Given the description of an element on the screen output the (x, y) to click on. 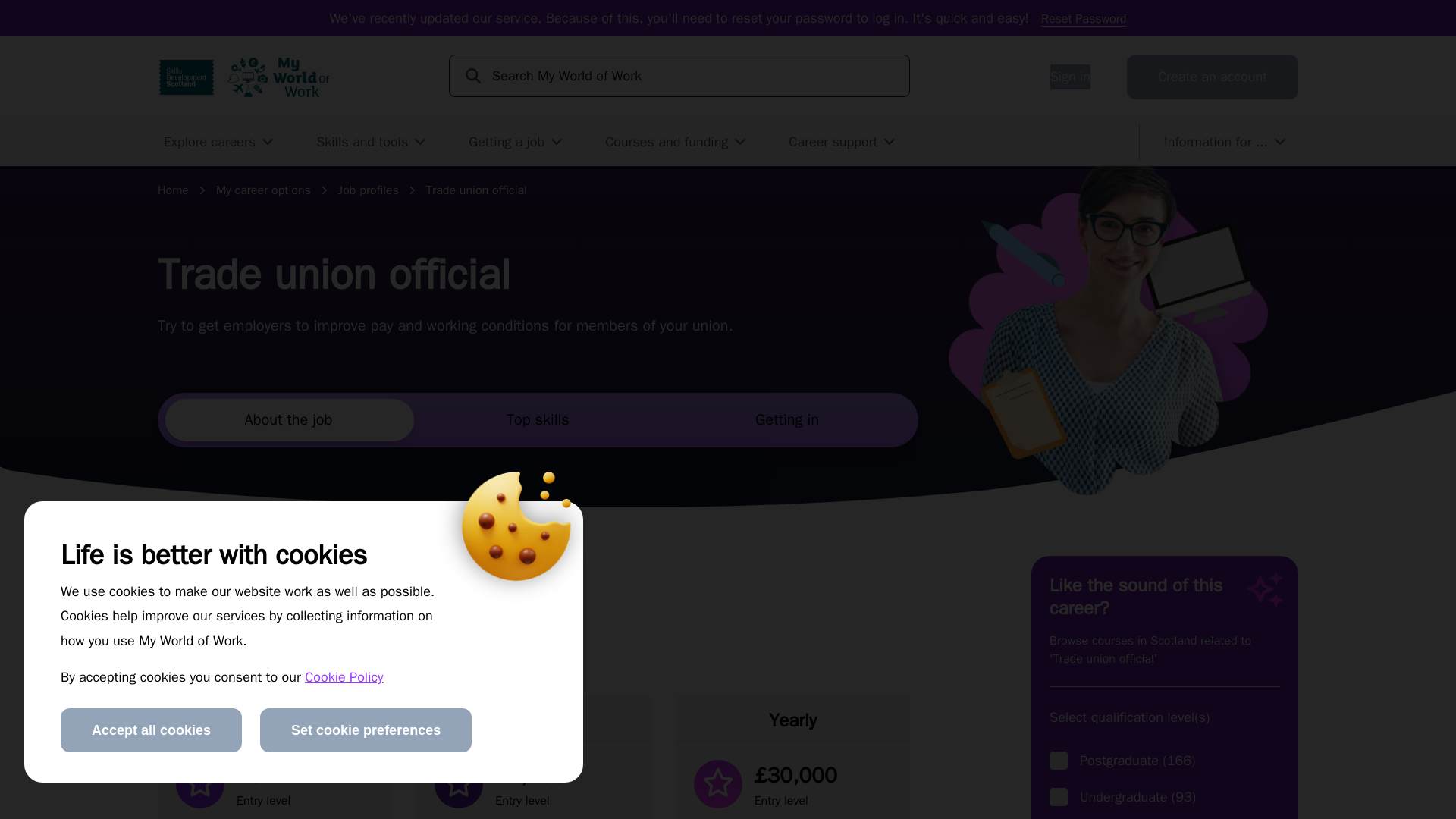
Undergraduate (1058, 796)
Sign in (1069, 76)
Accept all cookies (151, 730)
Create an account (1212, 76)
Postgraduate (1058, 760)
Reset Password (1083, 18)
Set cookie preferences (365, 730)
Cookie Policy (344, 677)
My World of Work (278, 77)
